Given the description of an element on the screen output the (x, y) to click on. 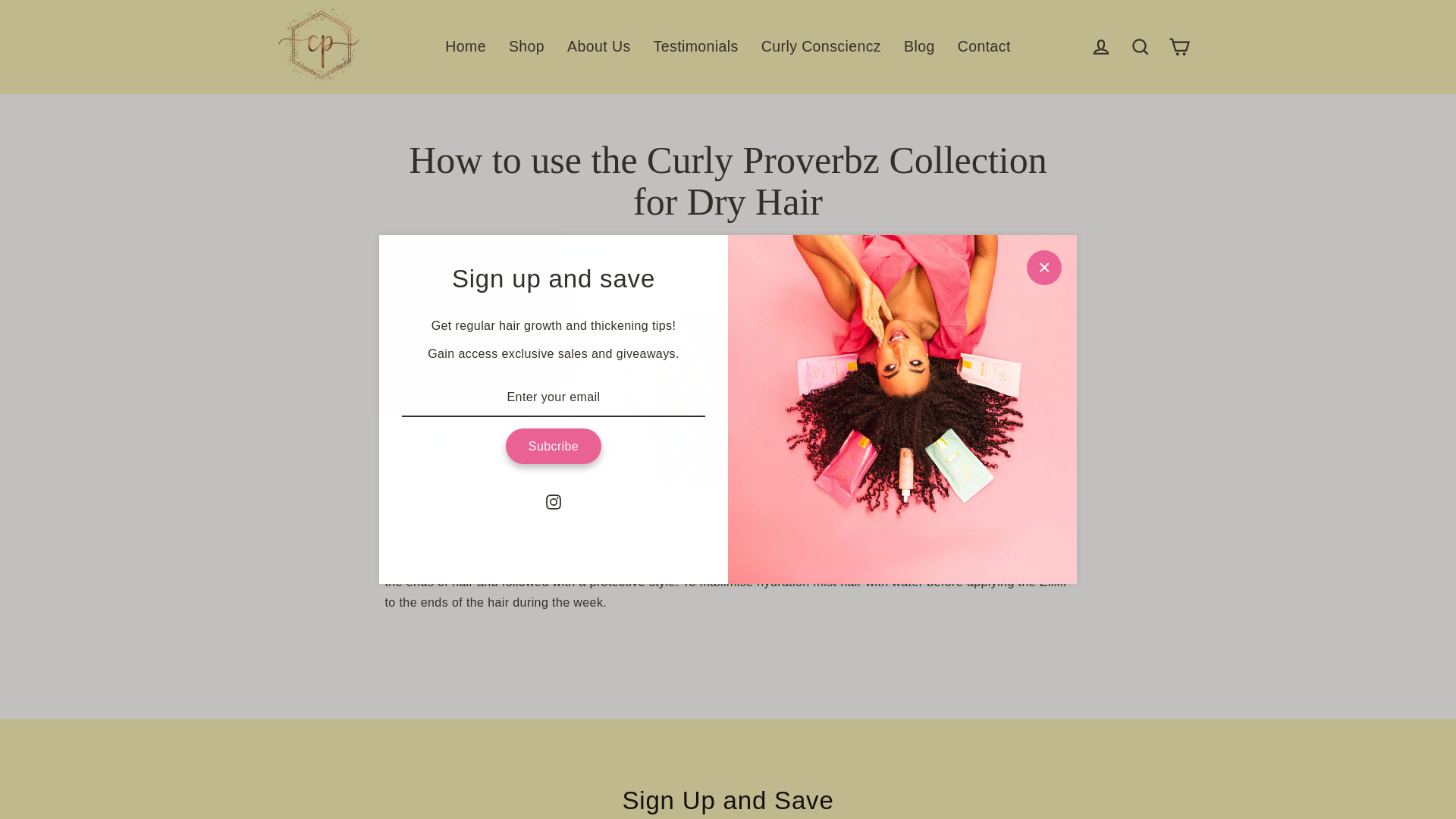
Curly Consciencz (820, 45)
Testimonials (695, 45)
The Curly Proverbz Fenugreek Elixir (866, 561)
Home (465, 45)
Curly Proverbz  on Instagram (553, 500)
Subscribe (553, 446)
Curly Proverbz Henna Pro Strength Powder (884, 519)
Shop (526, 45)
Curly Proverbz Henna and Aloe Masque (715, 530)
About Us (599, 45)
